Given the description of an element on the screen output the (x, y) to click on. 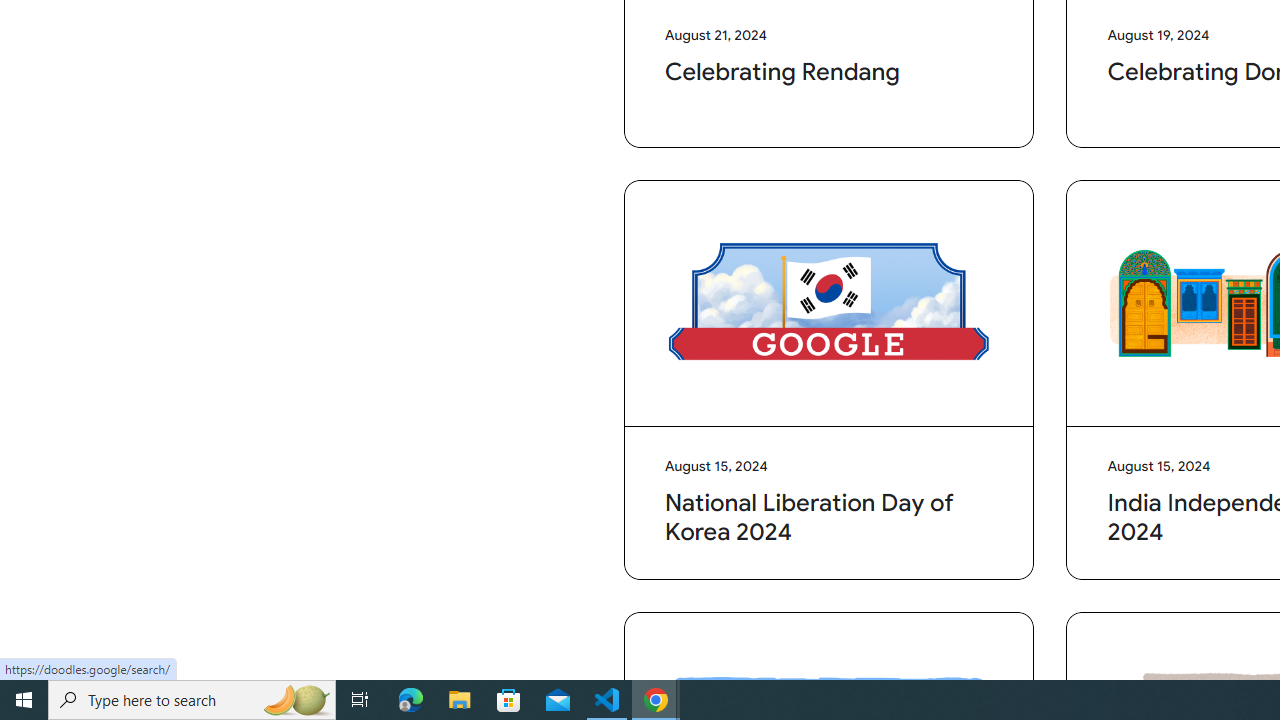
National Liberation Day of Korea 2024 (829, 304)
